Given the description of an element on the screen output the (x, y) to click on. 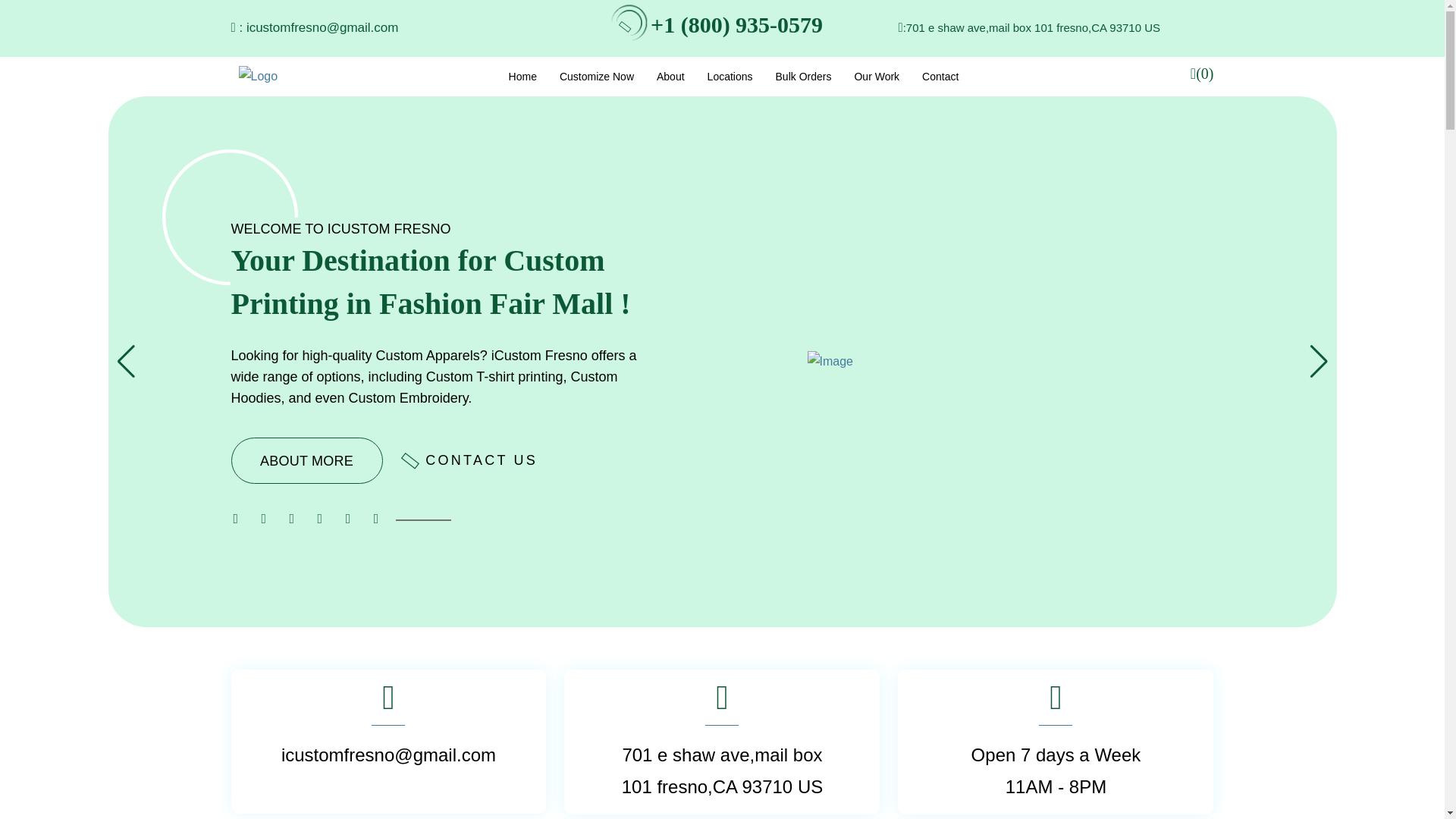
Locations (729, 75)
Our Work (876, 75)
ABOUT MORE (305, 460)
Contact (939, 75)
Customize Now (596, 75)
:701 e shaw ave,mail box 101 fresno,CA 93710 US (1031, 27)
CONTACT US (472, 460)
Bulk Orders (803, 75)
